Given the description of an element on the screen output the (x, y) to click on. 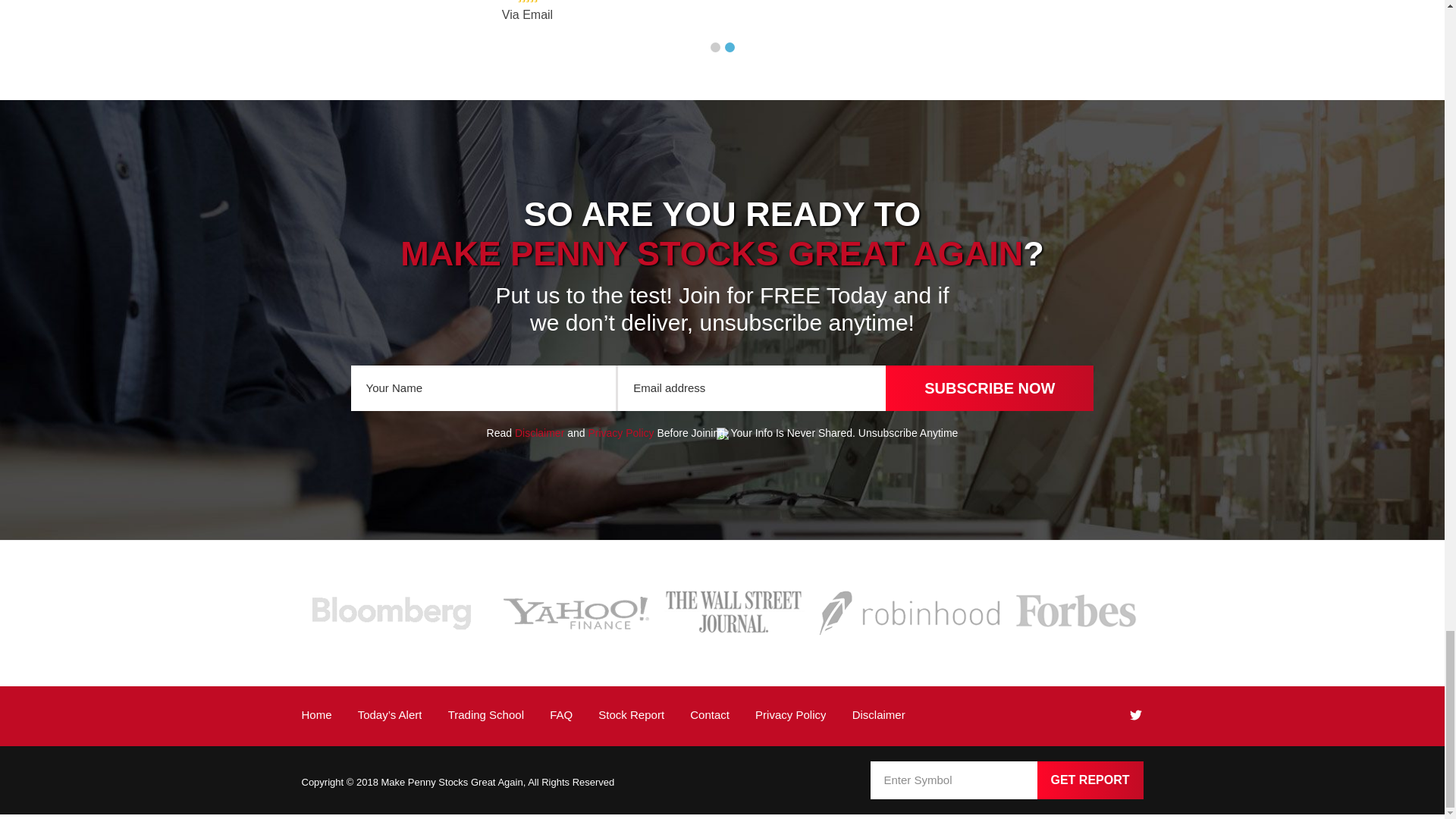
Contact (709, 714)
Disclaimer (539, 432)
Trading School (486, 714)
SUBSCRIBE NOW (989, 388)
Stock Report (630, 714)
Home (316, 714)
Enter Symbol (953, 780)
Disclaimer (878, 714)
Get Report (1089, 780)
Get Report (1089, 780)
Privacy Policy (790, 714)
SUBSCRIBE NOW (989, 388)
Privacy Policy (620, 432)
Enter Symbol (953, 780)
FAQ (561, 714)
